Given the description of an element on the screen output the (x, y) to click on. 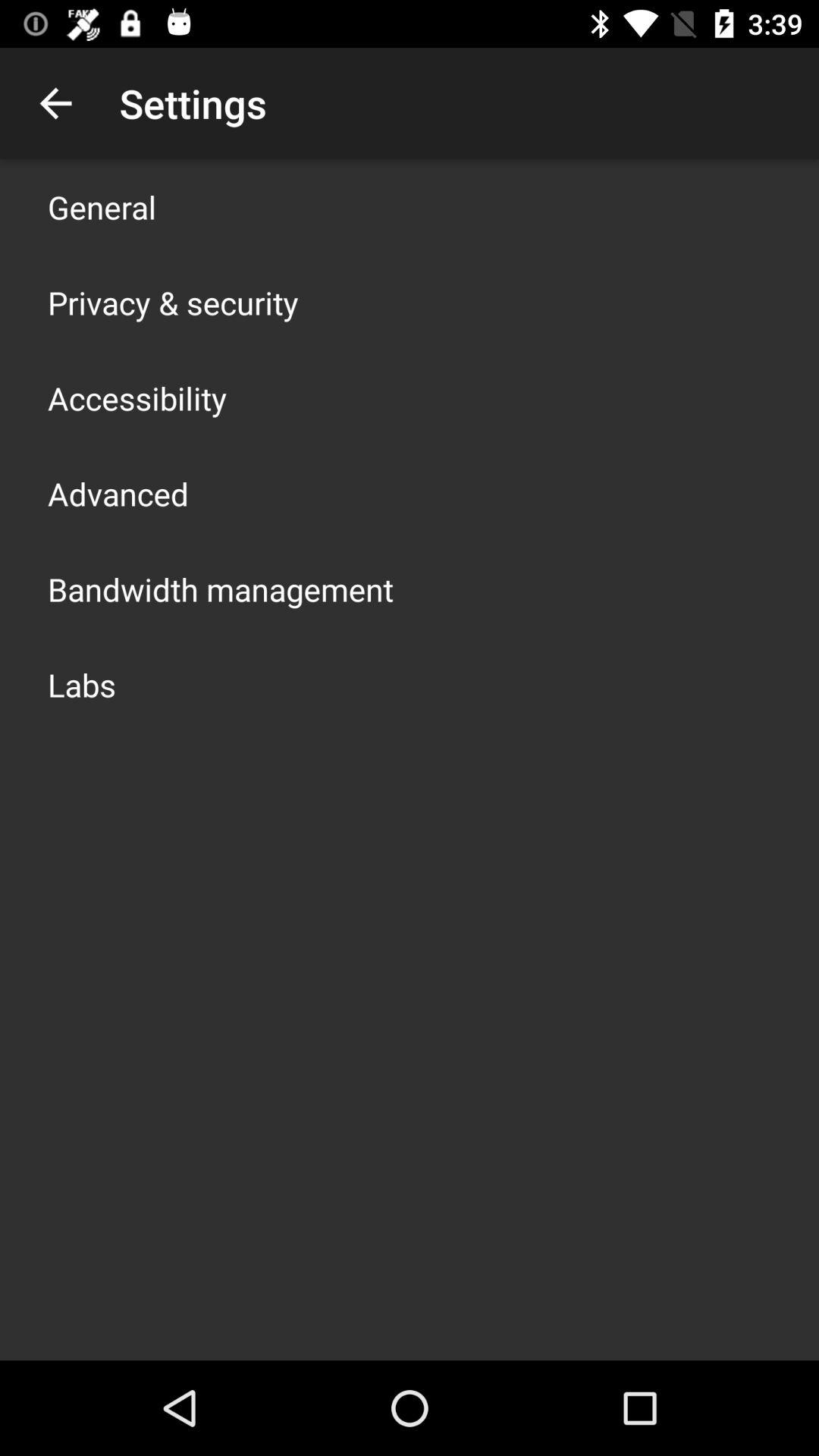
tap labs item (81, 684)
